Given the description of an element on the screen output the (x, y) to click on. 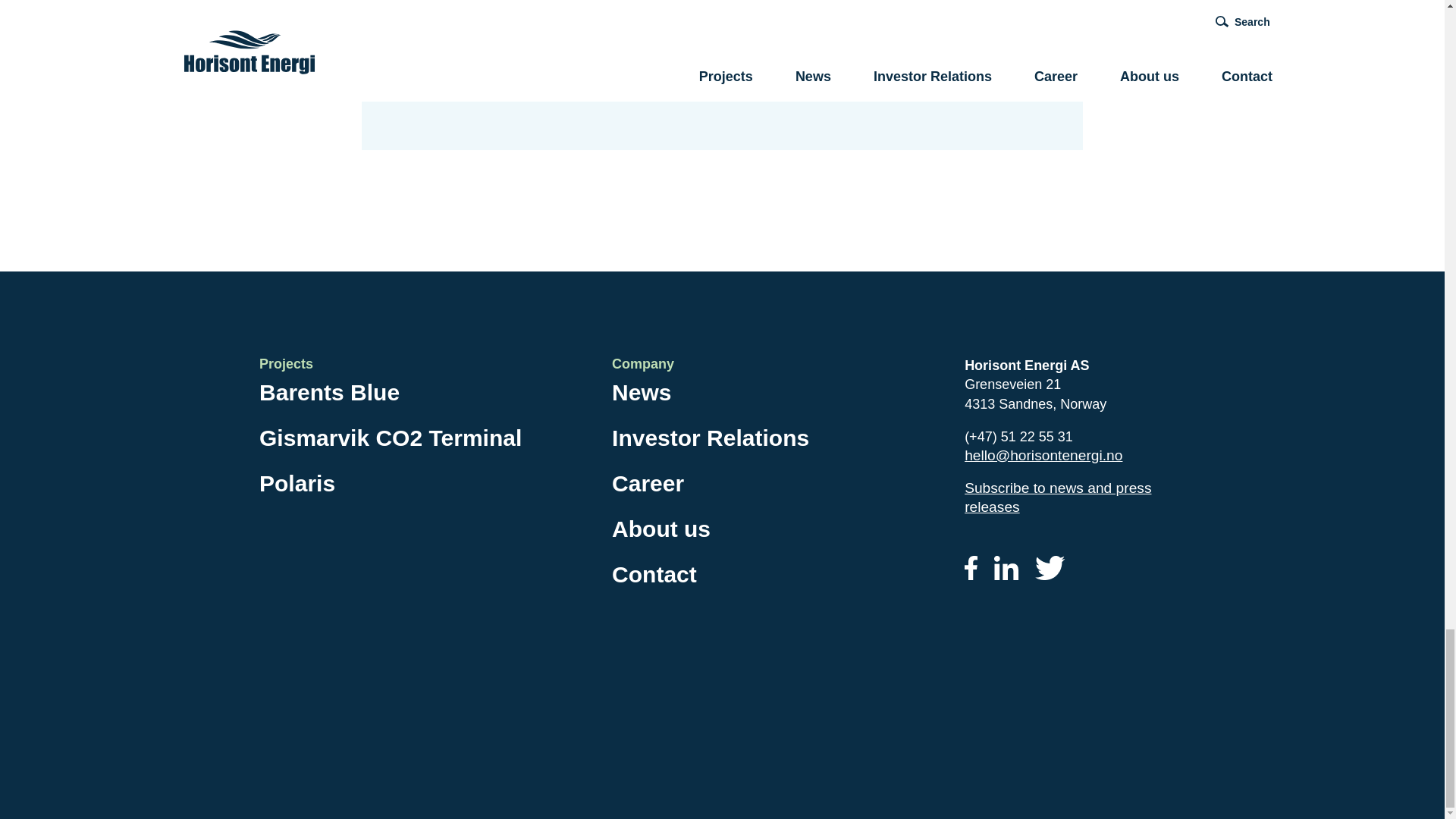
Barents Blue (328, 395)
About us (660, 532)
Investor Relations (710, 441)
Polaris (296, 486)
Contact (654, 577)
Subscribe to news and press releases (1057, 497)
Career (647, 486)
Gismarvik CO2 Terminal (390, 441)
News (641, 395)
